Given the description of an element on the screen output the (x, y) to click on. 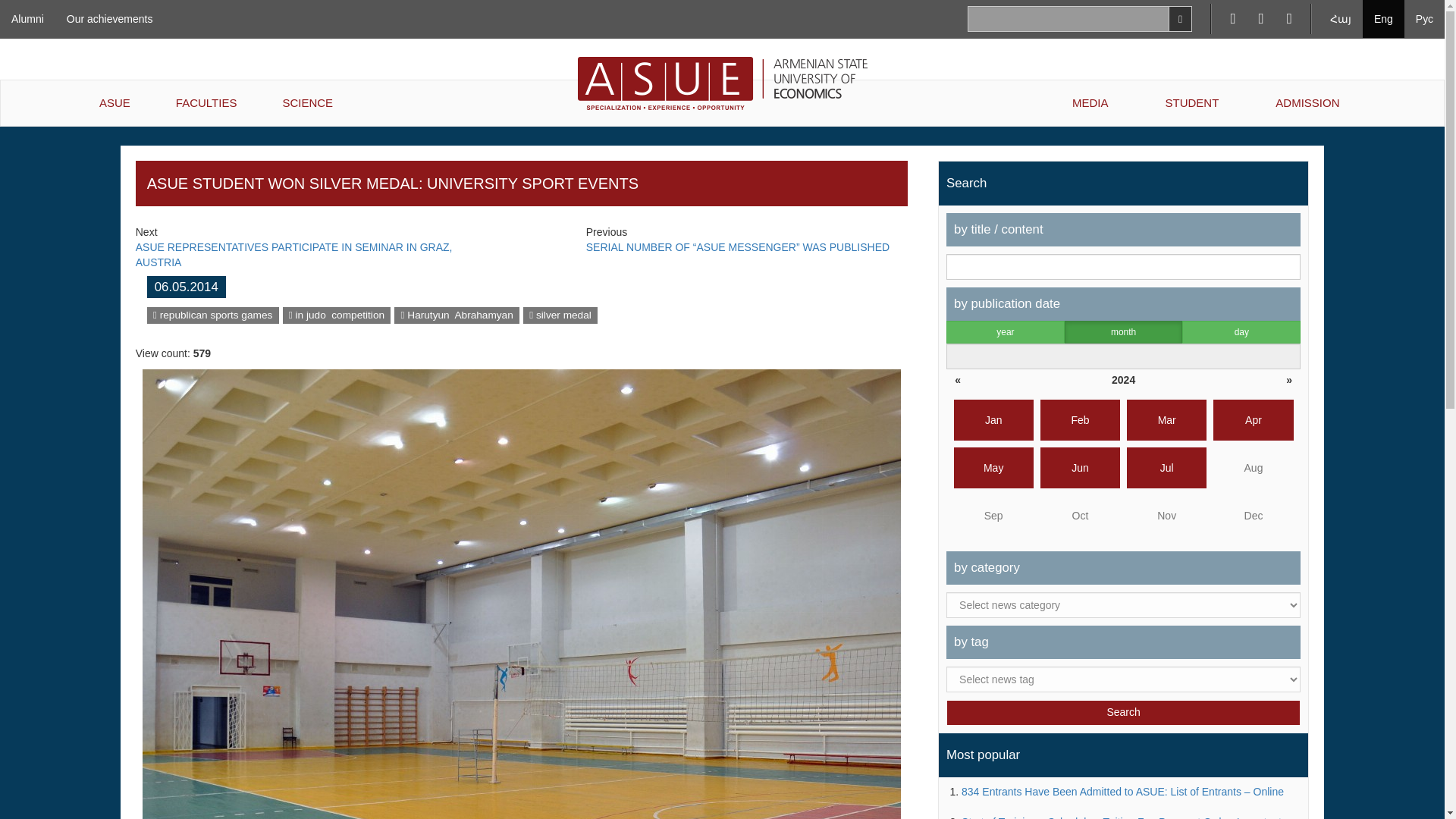
2 (1239, 333)
Website name (456, 315)
0 (1000, 333)
Website name (212, 315)
1 (1115, 333)
Alumni (27, 18)
Our achievements (109, 18)
Website name (336, 315)
Website name (560, 315)
